Given the description of an element on the screen output the (x, y) to click on. 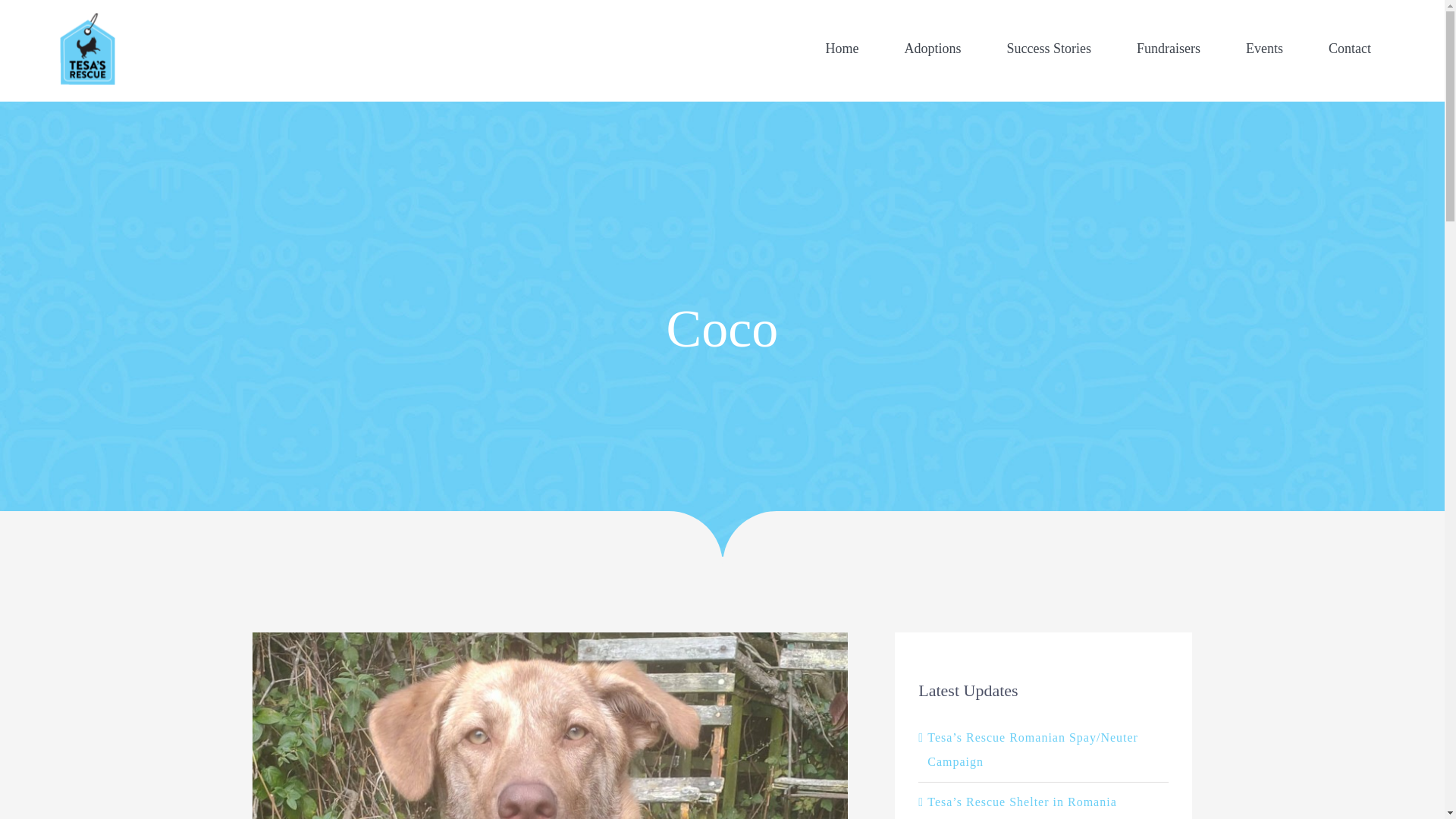
Contact (1349, 48)
Success Stories (1049, 48)
Adoptions (933, 48)
Coco after (549, 637)
Events (1264, 48)
Home (842, 48)
Fundraisers (1168, 48)
